Given the description of an element on the screen output the (x, y) to click on. 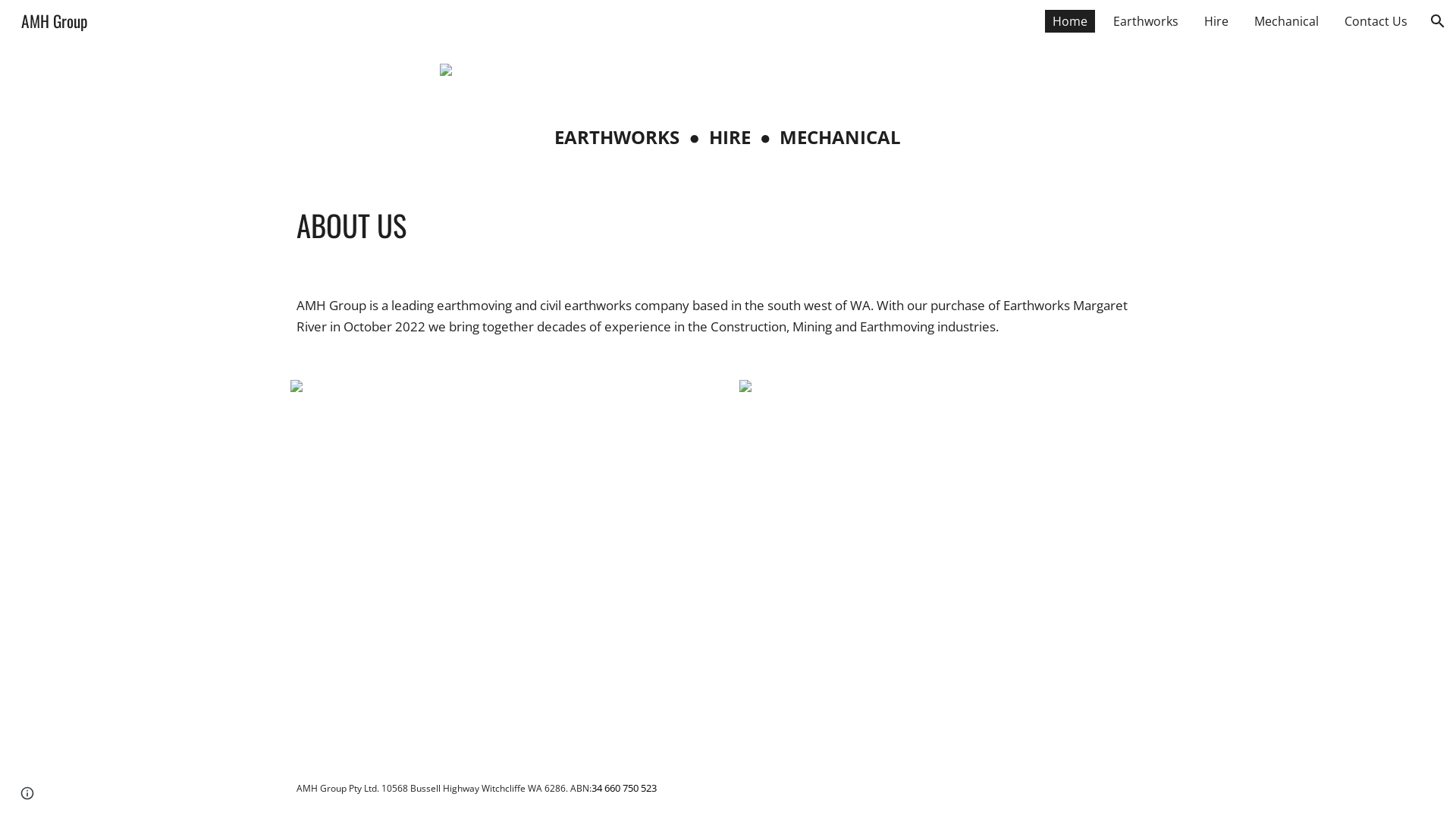
Contact Us Element type: text (1375, 20)
AMH Group Element type: text (54, 18)
Earthworks Element type: text (1145, 20)
Hire Element type: text (1216, 20)
Mechanical Element type: text (1286, 20)
Home Element type: text (1069, 20)
